Given the description of an element on the screen output the (x, y) to click on. 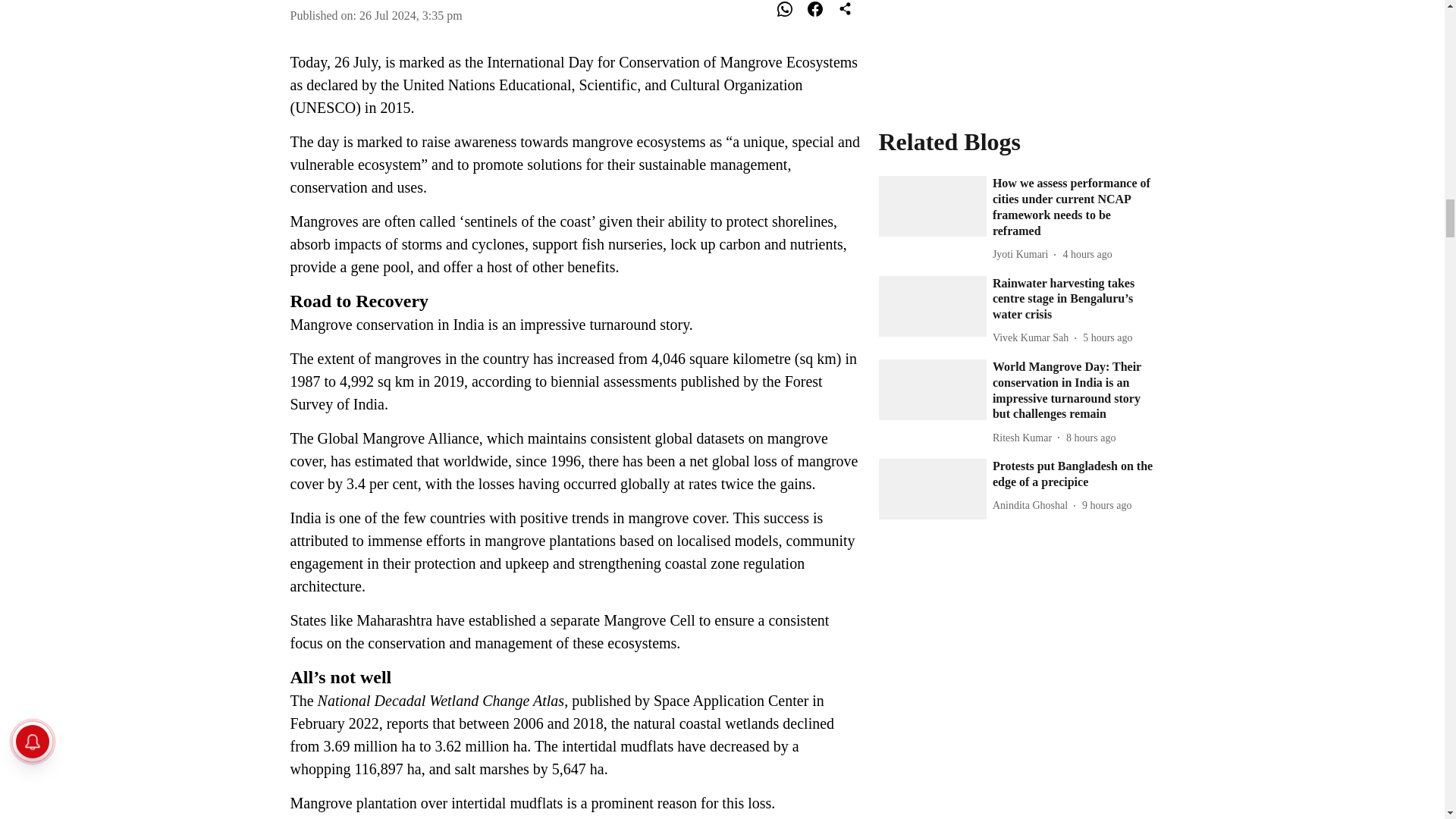
2024-07-26 06:12 (1106, 2)
2024-07-26 07:35 (411, 15)
